Given the description of an element on the screen output the (x, y) to click on. 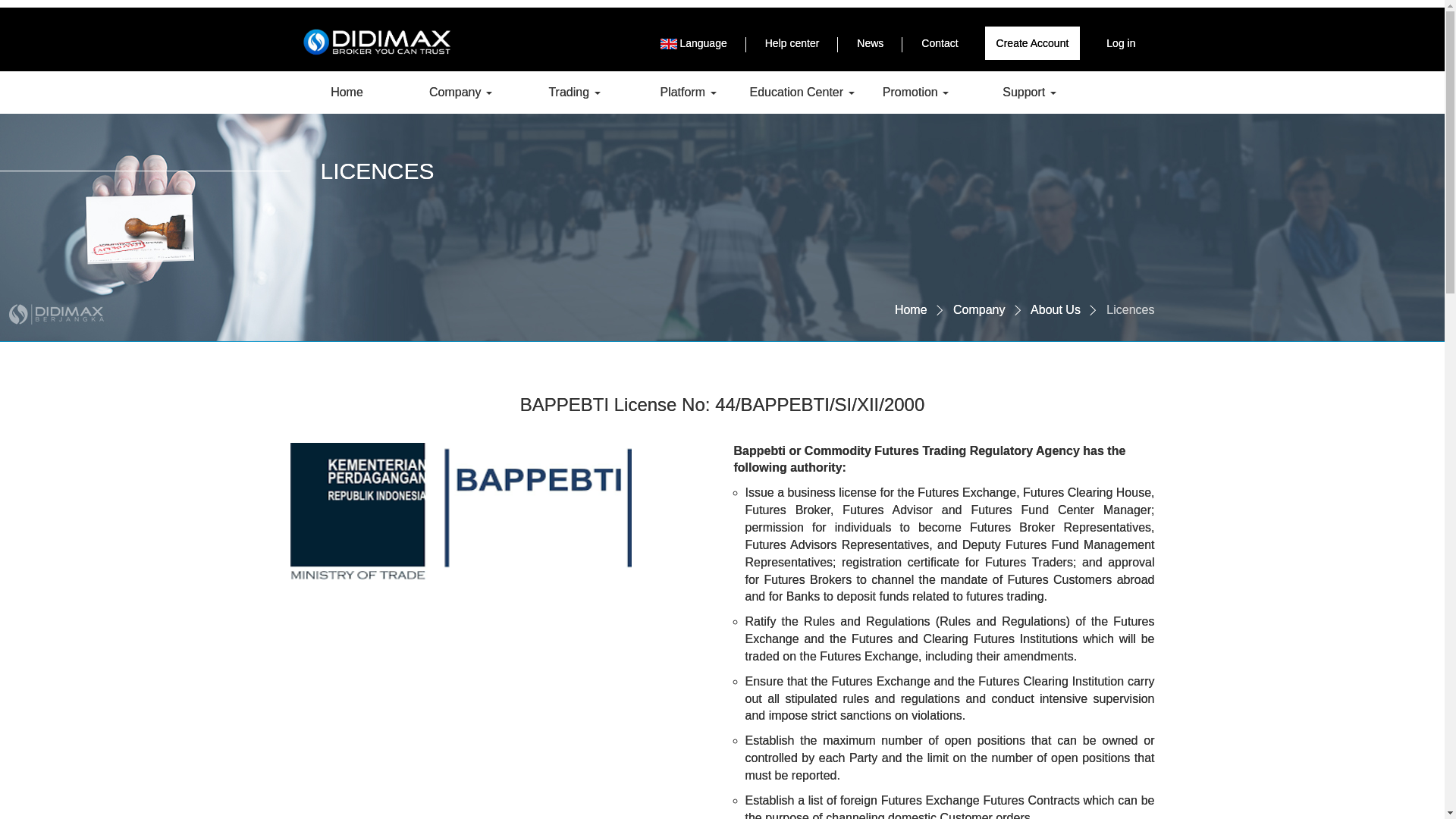
Education Center (801, 92)
Company (459, 92)
Create Account (1032, 42)
Platform (687, 92)
Log in (1120, 42)
Language (693, 42)
Home (346, 92)
Trading (573, 92)
Contact (939, 42)
News (870, 42)
Help center (791, 42)
